Given the description of an element on the screen output the (x, y) to click on. 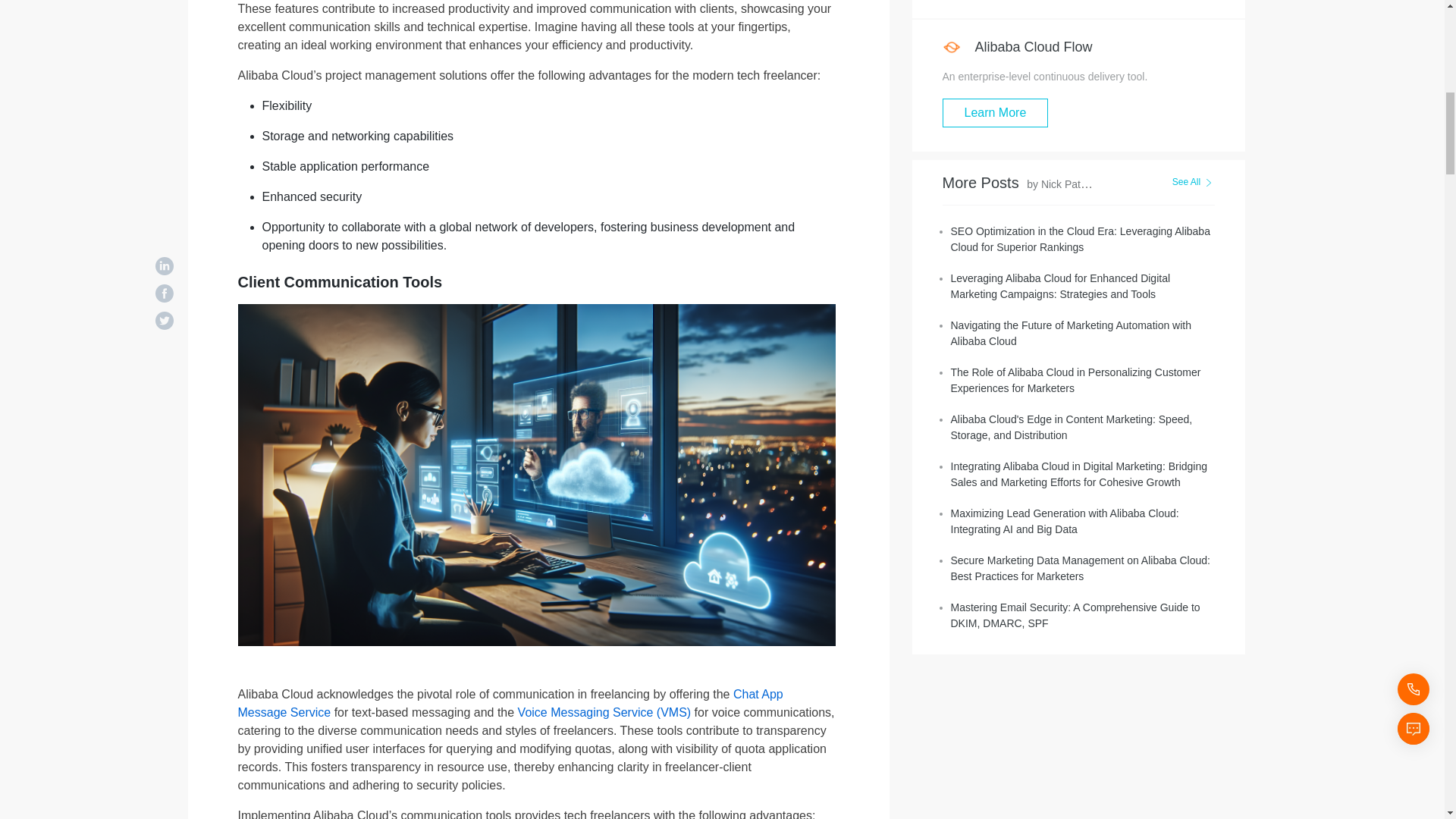
Chat App Message Service (510, 703)
